Given the description of an element on the screen output the (x, y) to click on. 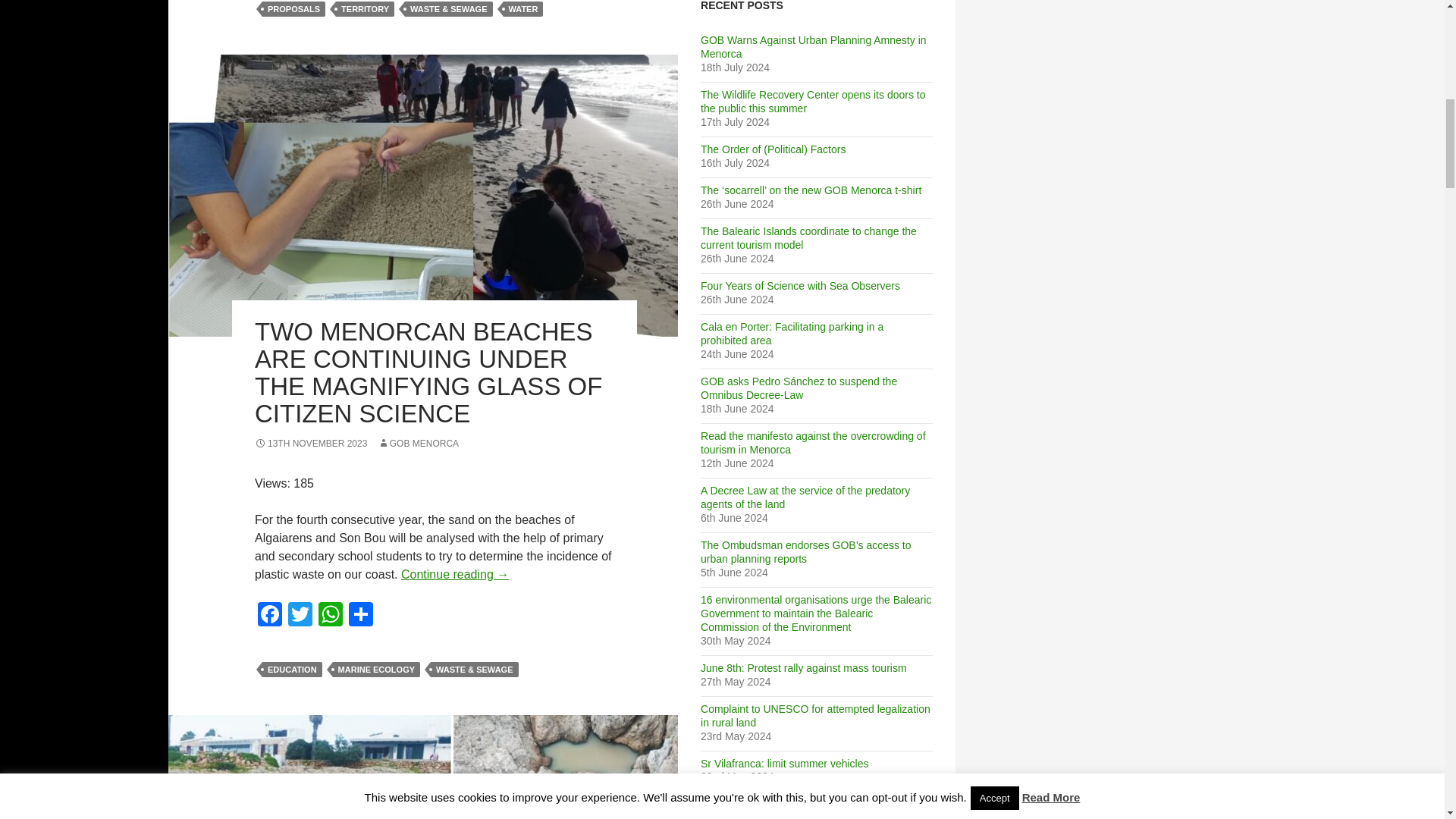
WhatsApp (330, 615)
Twitter (300, 615)
Facebook (269, 615)
